Given the description of an element on the screen output the (x, y) to click on. 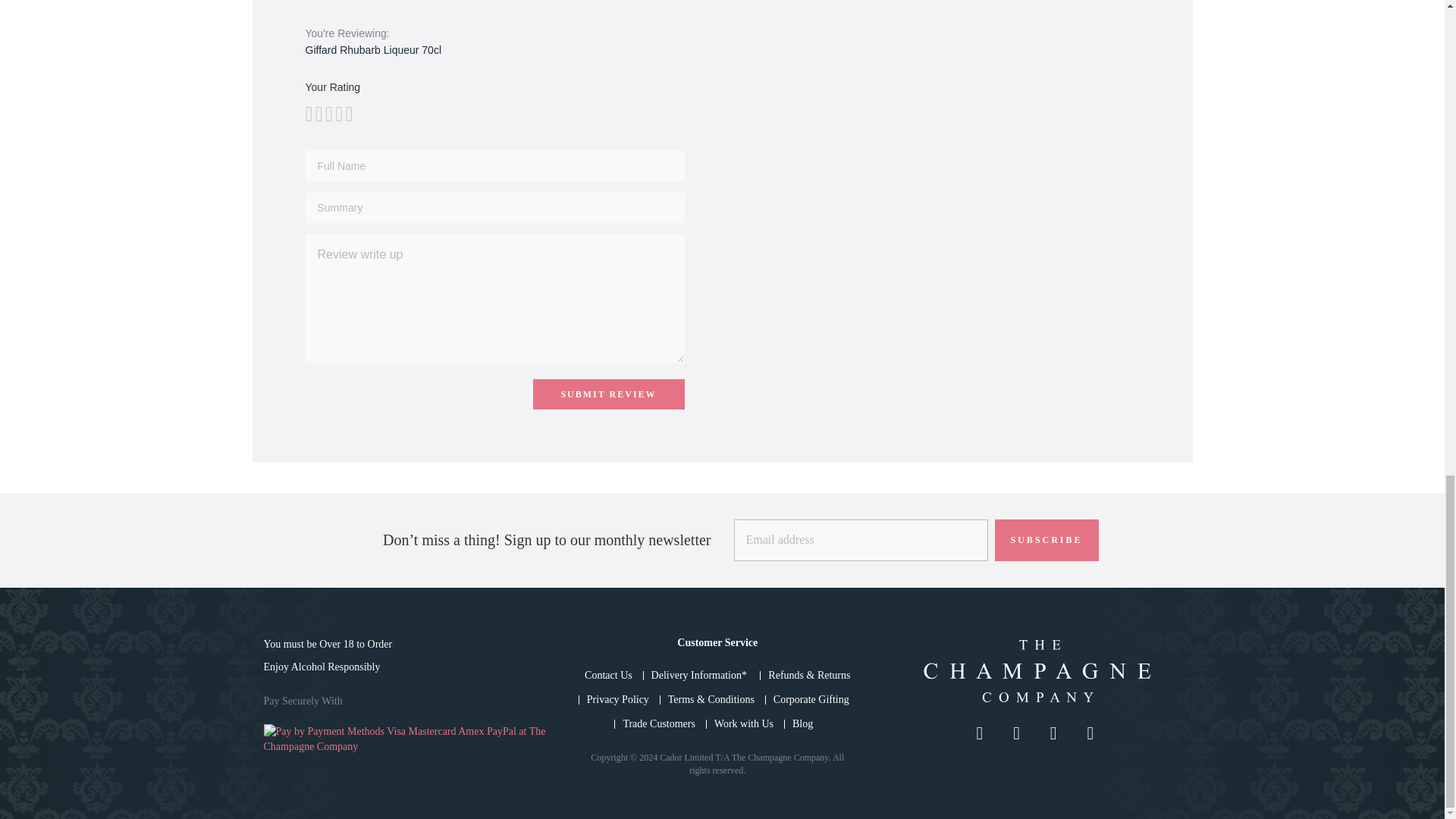
Payment Methods at The Champagne Company (407, 738)
4 stars (323, 114)
3 stars (318, 114)
5 stars (328, 114)
Trade Customers (659, 723)
Subscribe (1046, 540)
Payment Methods at The Champagne Company (407, 746)
